Given the description of an element on the screen output the (x, y) to click on. 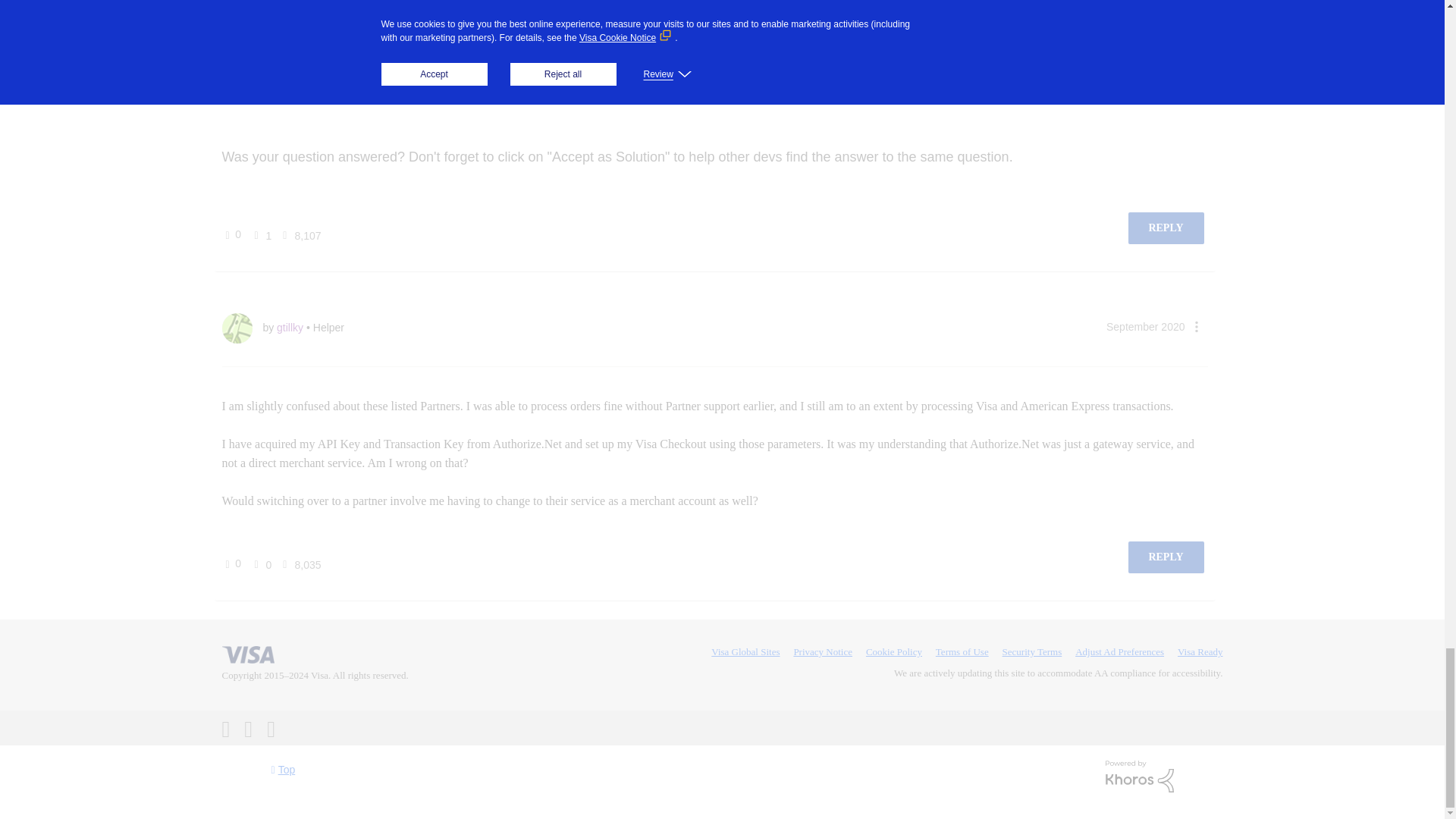
Top (283, 769)
Top (283, 769)
